Given the description of an element on the screen output the (x, y) to click on. 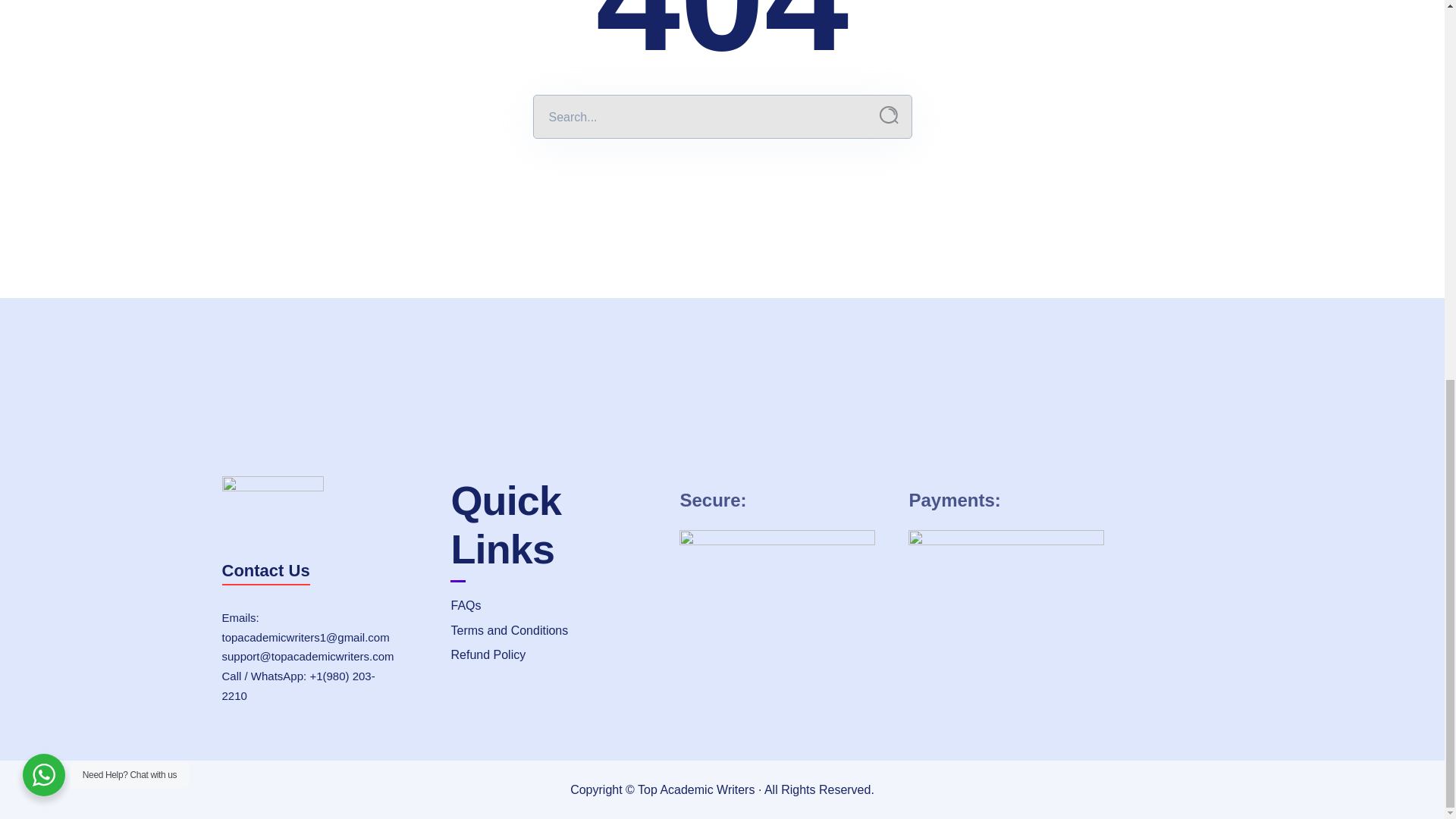
FAQs (552, 605)
Search... (888, 115)
Refund Policy (552, 655)
Terms and Conditions (552, 630)
Need Help? Chat with us (44, 69)
